Given the description of an element on the screen output the (x, y) to click on. 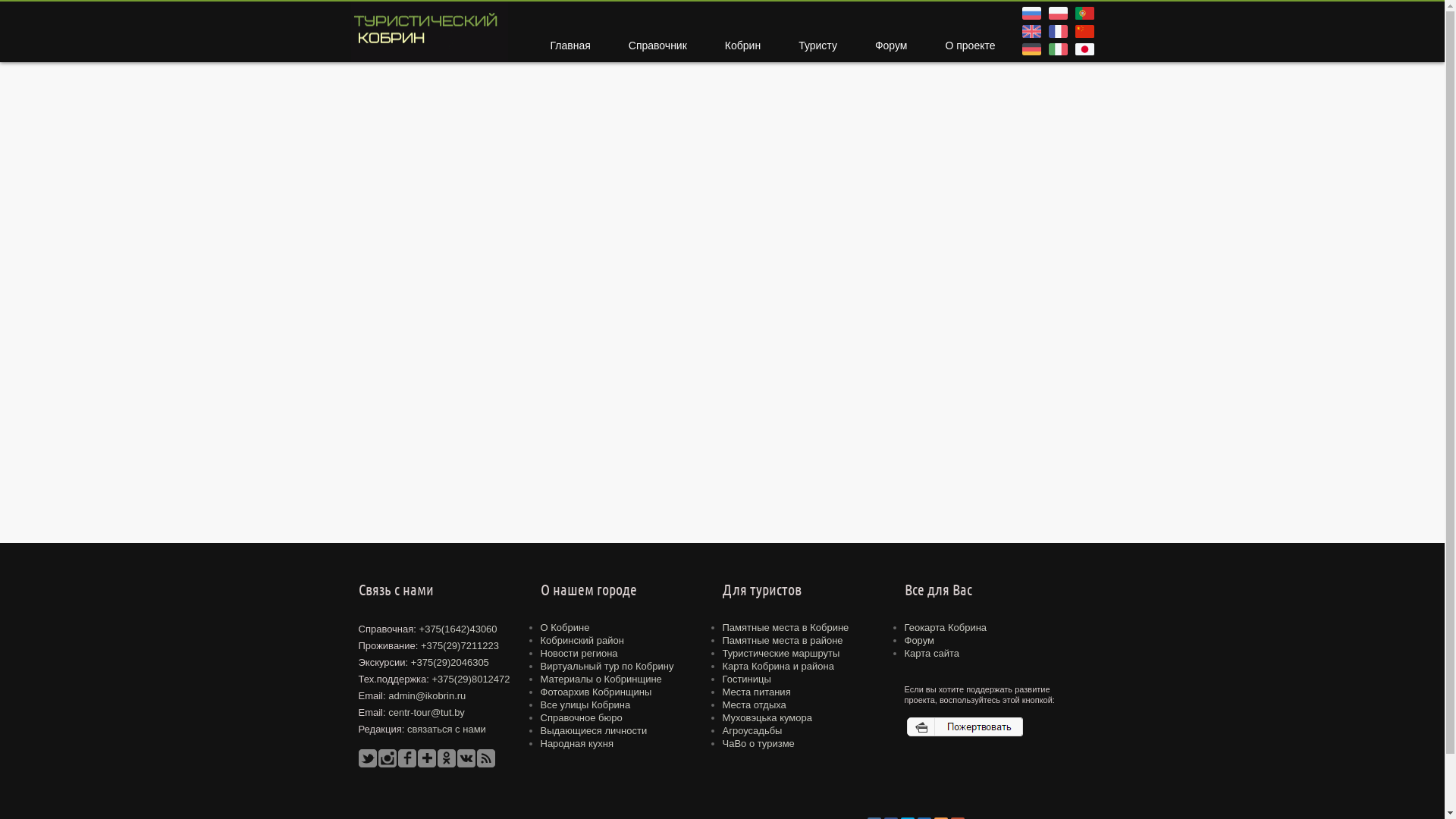
Deutsch Version Element type: hover (1027, 46)
centr-tour@tut.by Element type: text (426, 712)
English version Element type: hover (1027, 28)
Versione italiana Element type: hover (1053, 46)
Polish version Element type: hover (1053, 10)
admin@ikobrin.ru Element type: text (426, 695)
